Given the description of an element on the screen output the (x, y) to click on. 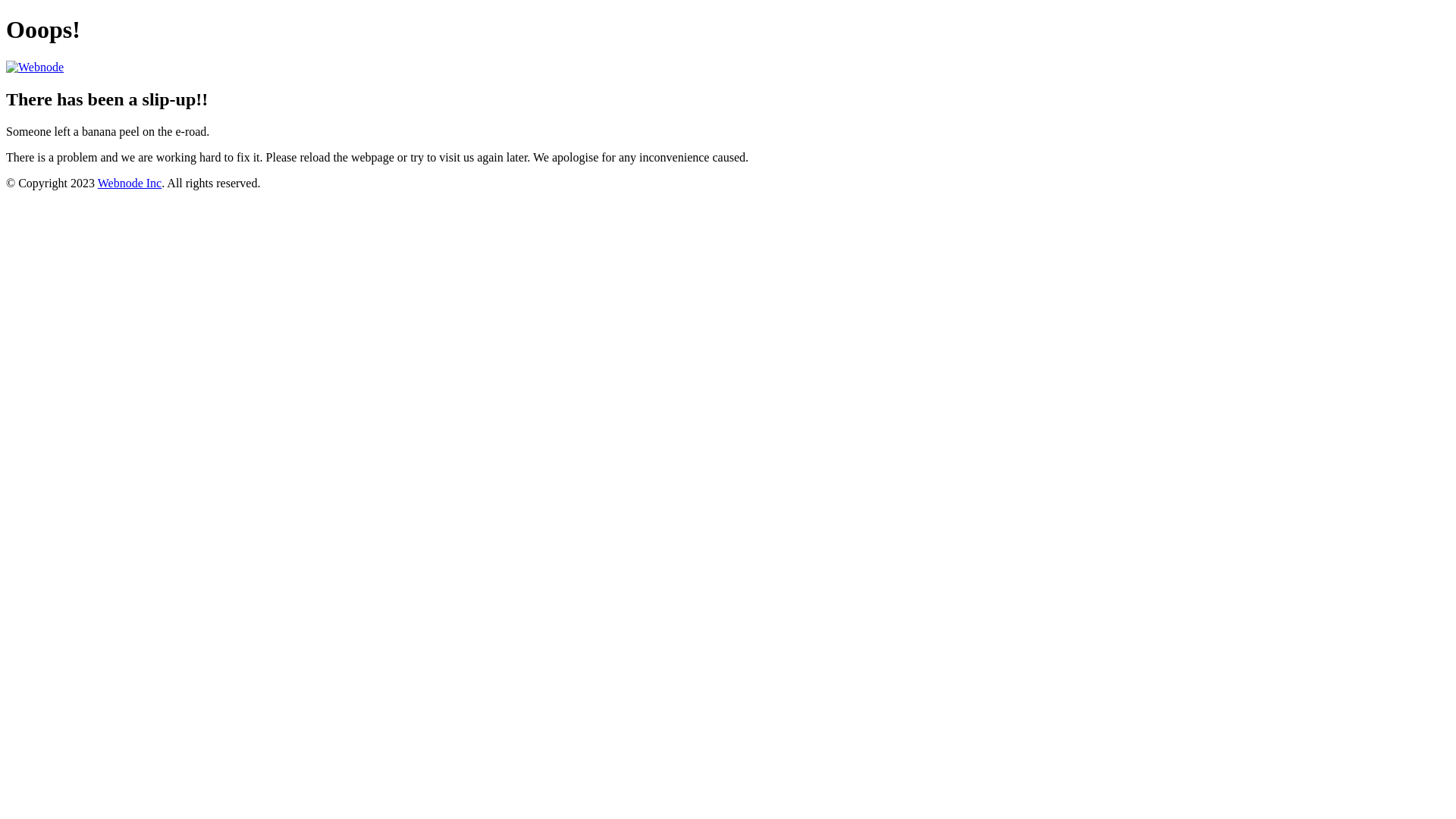
Webnode Inc Element type: text (129, 182)
